Given the description of an element on the screen output the (x, y) to click on. 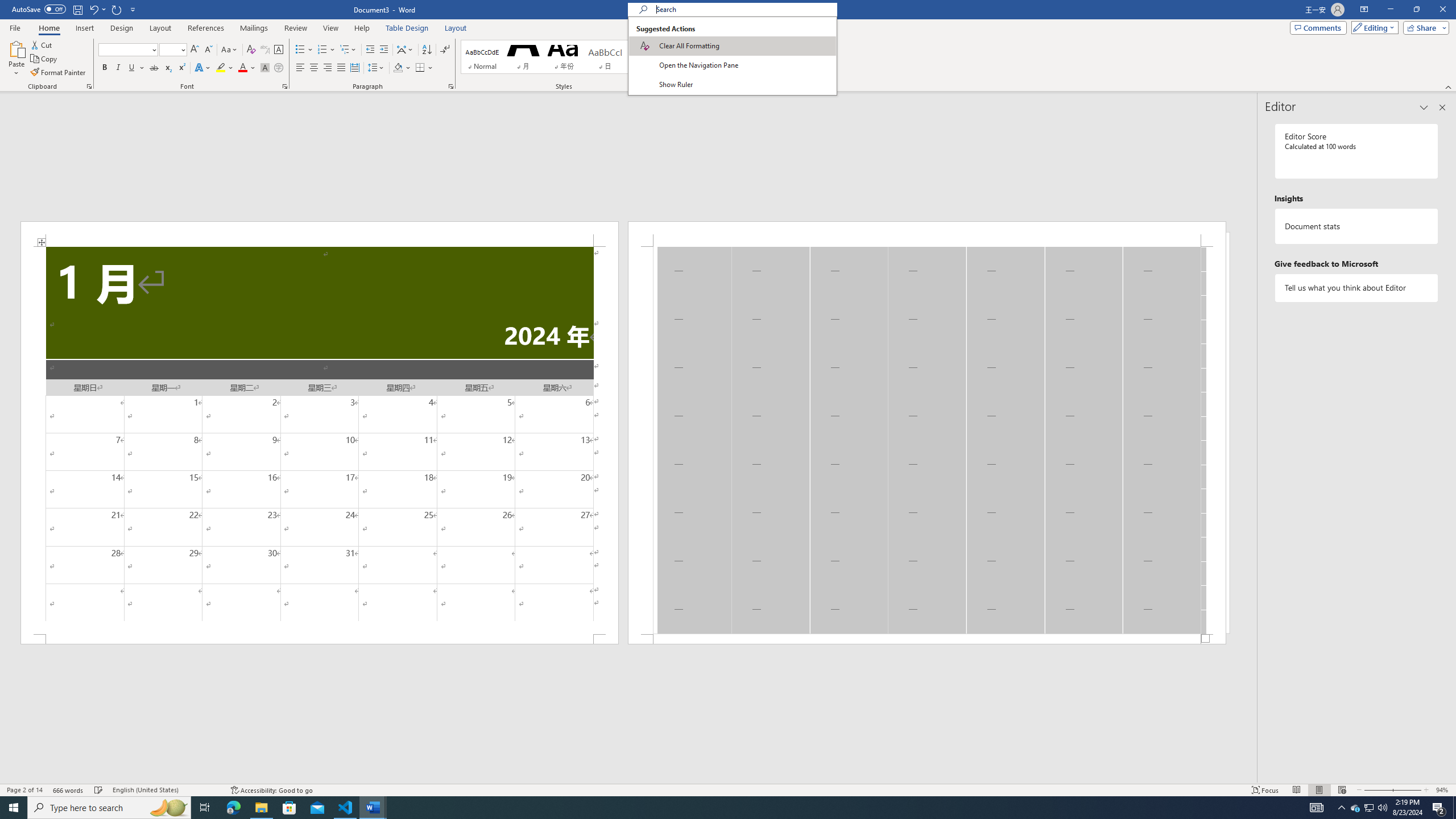
Home (48, 28)
Subscript (167, 67)
System (6, 6)
Close pane (1441, 107)
Word Count 666 words (68, 790)
Phonetic Guide... (264, 49)
Increase Indent (383, 49)
Task Pane Options (1423, 107)
Font (128, 49)
Restore Down (1416, 9)
Grow Font (193, 49)
Font Size (169, 49)
Zoom Out (1377, 790)
Asian Layout (405, 49)
